Given the description of an element on the screen output the (x, y) to click on. 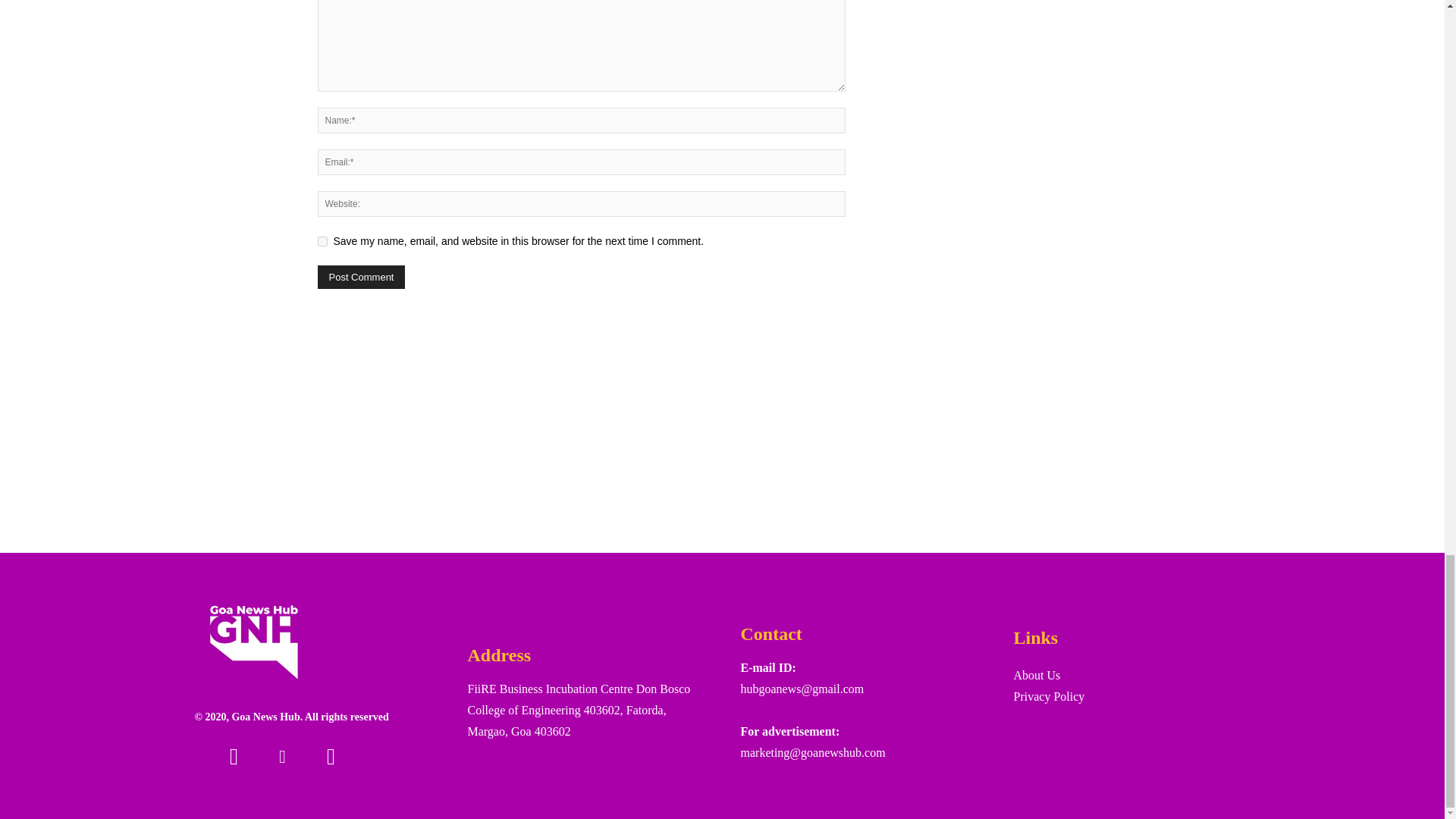
Post Comment (360, 277)
yes (321, 241)
